Given the description of an element on the screen output the (x, y) to click on. 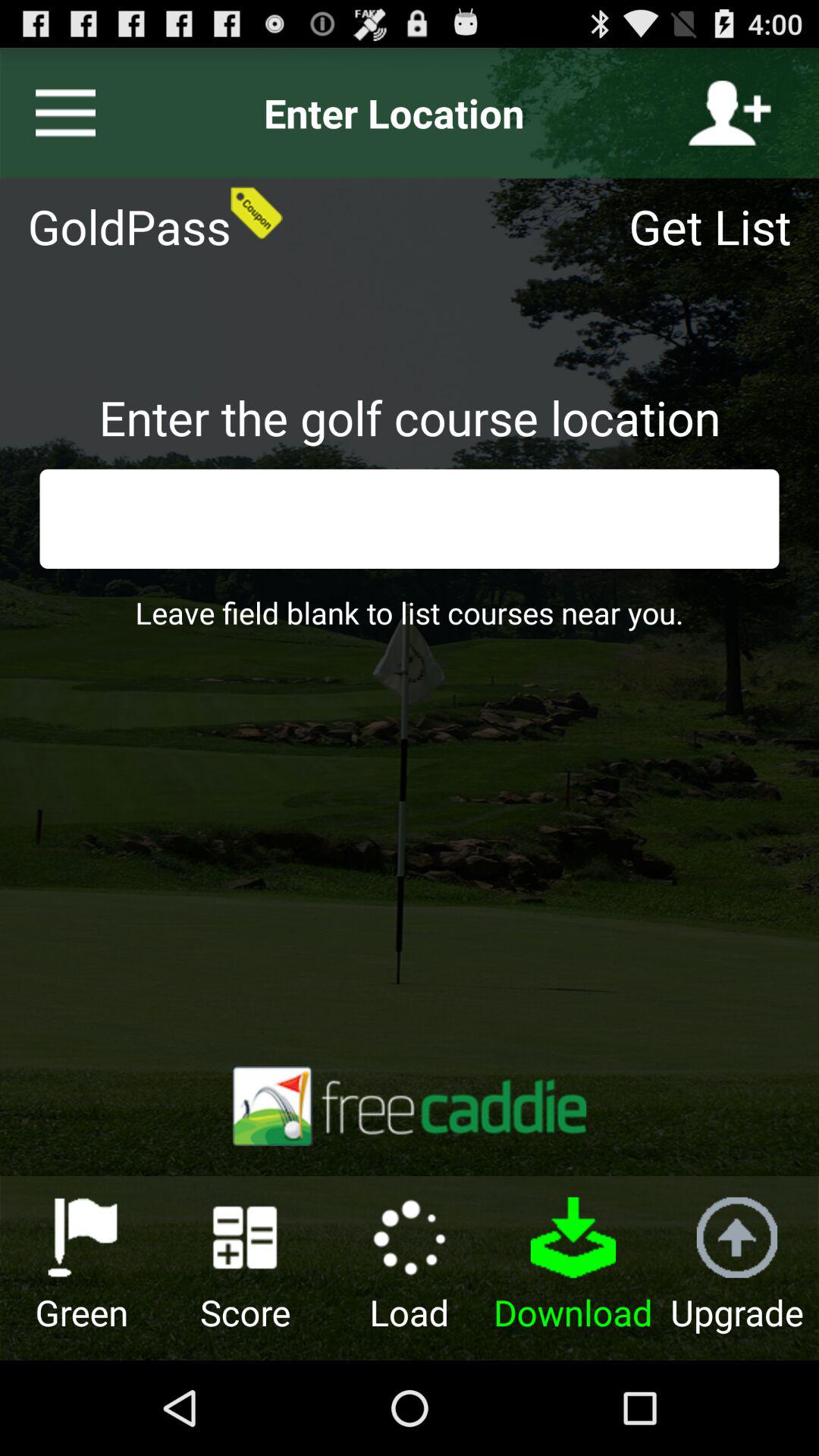
launch app to the right of the enter location item (729, 112)
